Given the description of an element on the screen output the (x, y) to click on. 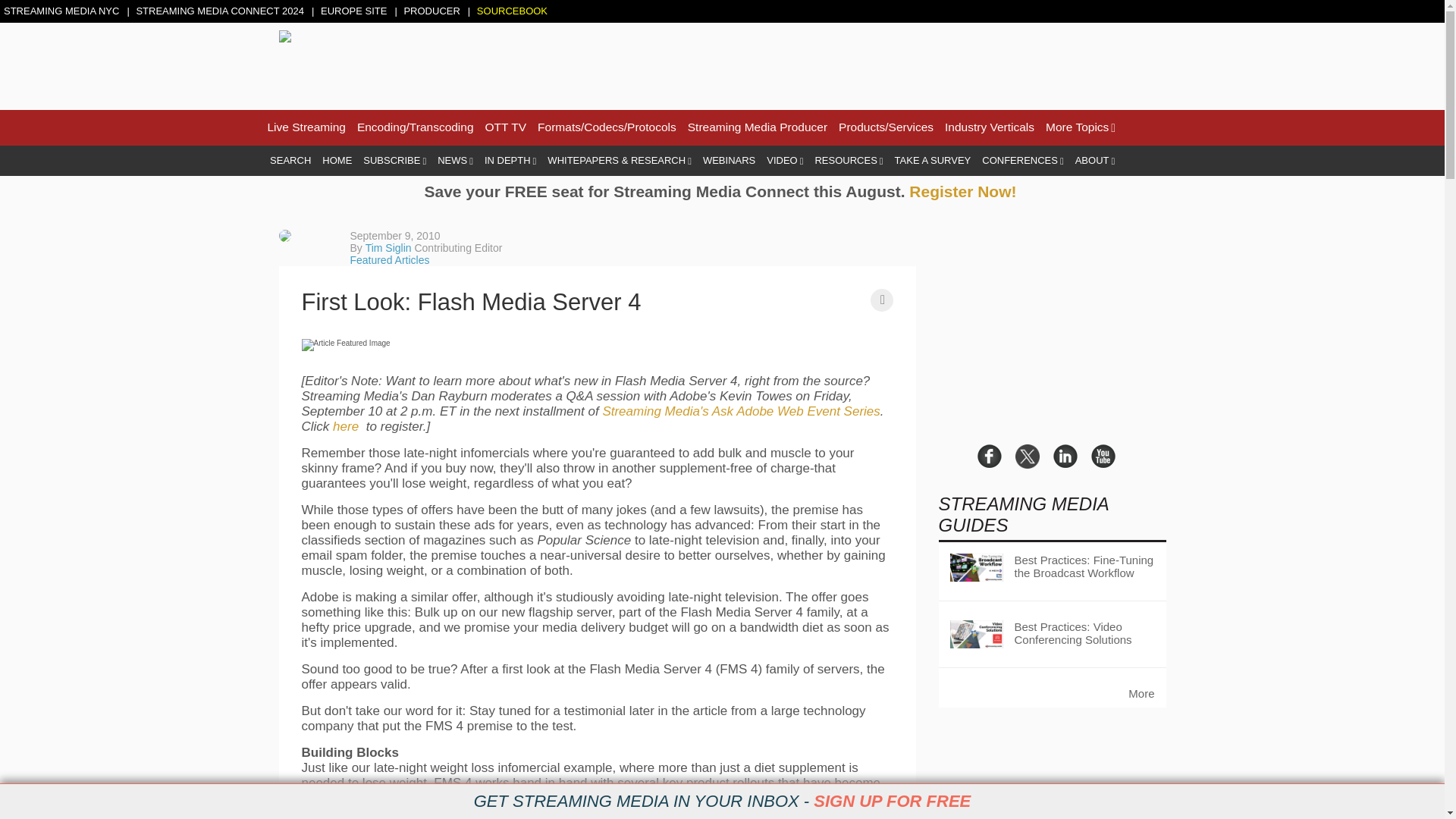
Industry Verticals (988, 127)
Industry Verticals (988, 127)
OTT TV (505, 127)
Streaming Media Producer (757, 127)
3rd party ad content (890, 64)
STREAMING MEDIA CONNECT 2024 (221, 10)
Live Streaming (305, 127)
GET STREAMING MEDIA IN YOUR INBOX - SIGN UP FOR FREE (722, 801)
EUROPE SITE (355, 10)
PRODUCER (433, 10)
STREAMING MEDIA NYC (63, 10)
OTT TV (505, 127)
SUBSCRIBE (394, 160)
Streaming Media Producer (757, 127)
More Topics (1080, 127)
